Given the description of an element on the screen output the (x, y) to click on. 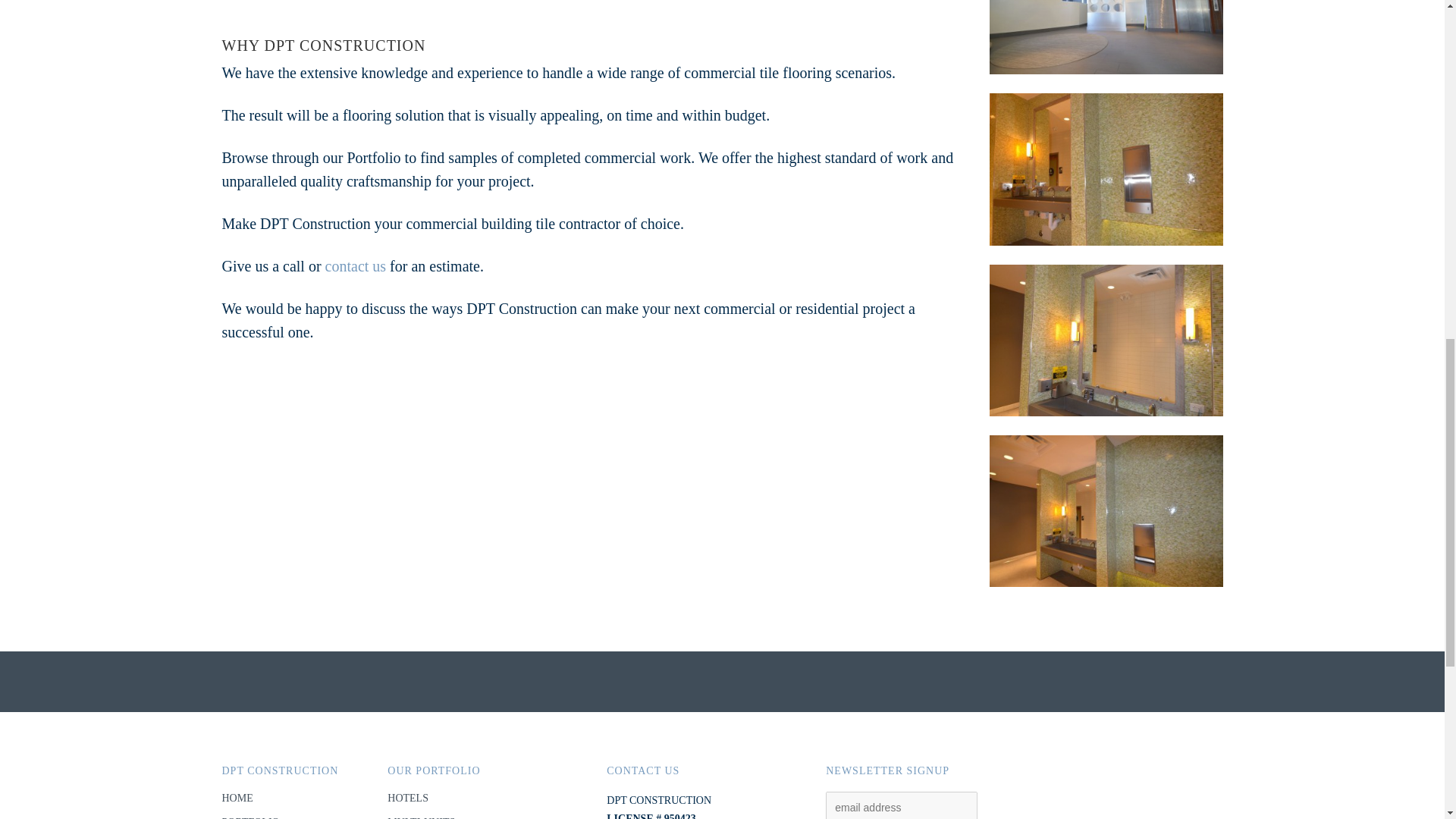
HOME (236, 797)
contact us (355, 265)
PORTFOLIO (250, 817)
